Given the description of an element on the screen output the (x, y) to click on. 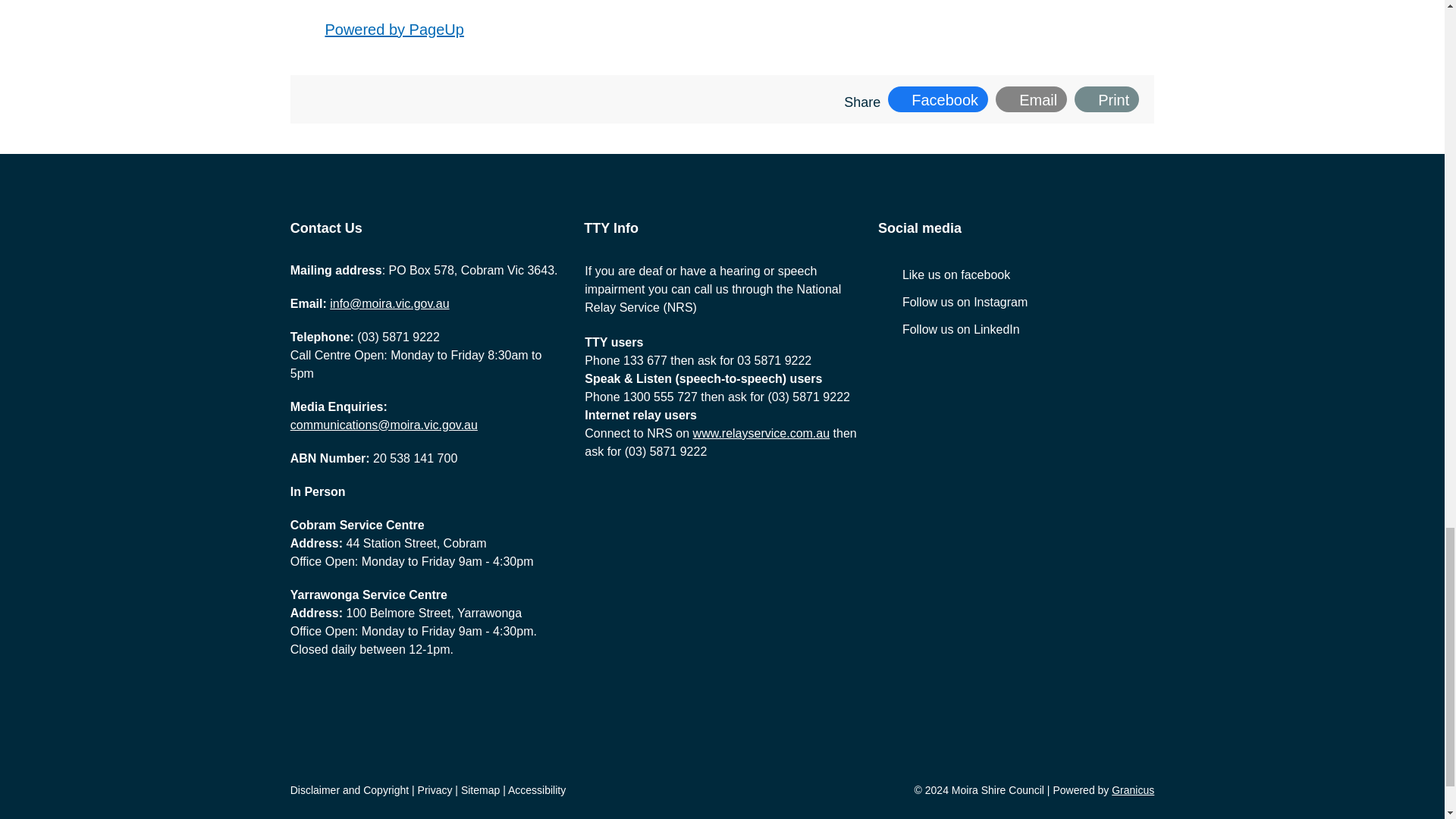
click here to make an internet call with NRS (761, 432)
